Given the description of an element on the screen output the (x, y) to click on. 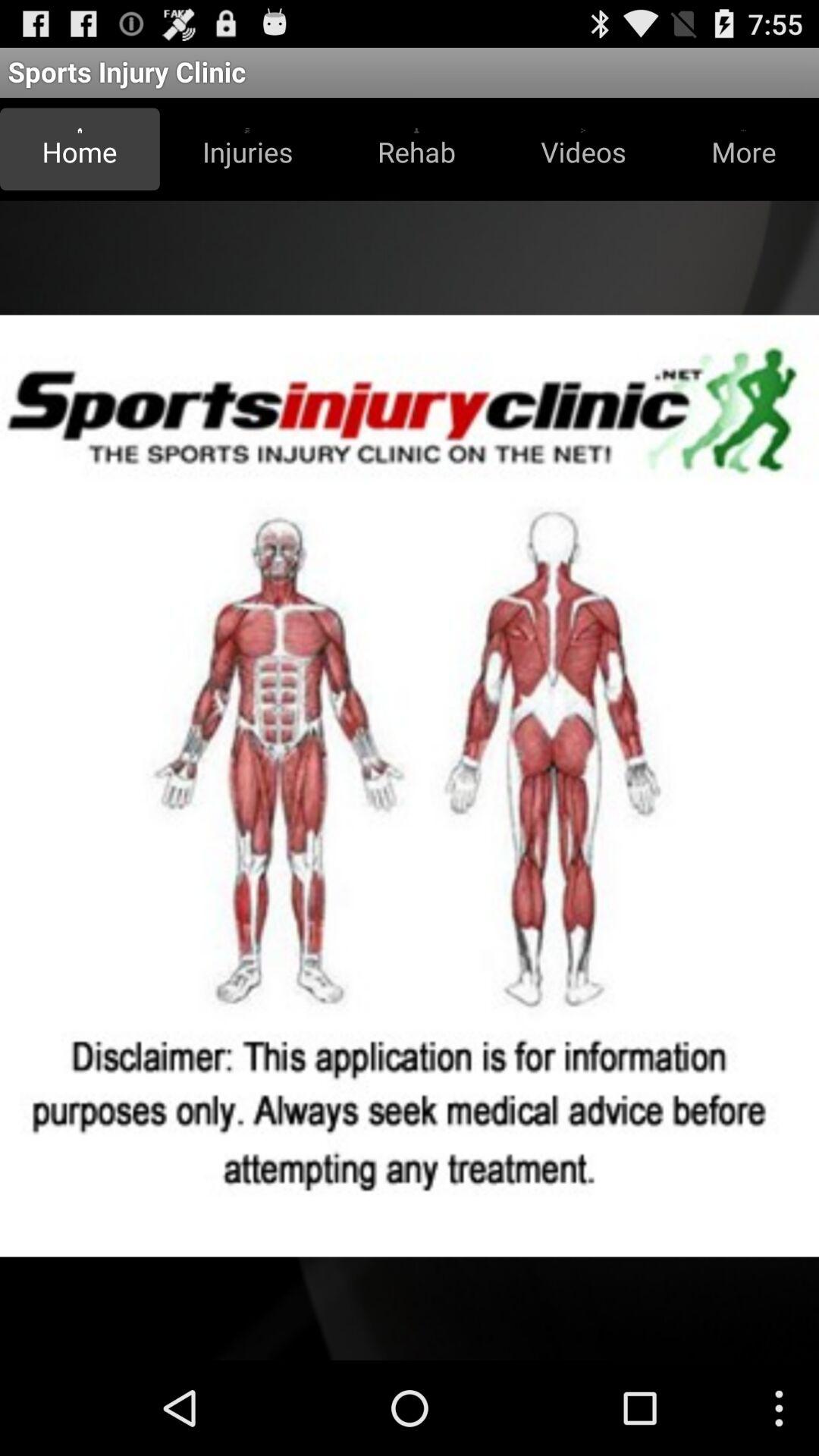
open button next to the rehab icon (583, 149)
